Given the description of an element on the screen output the (x, y) to click on. 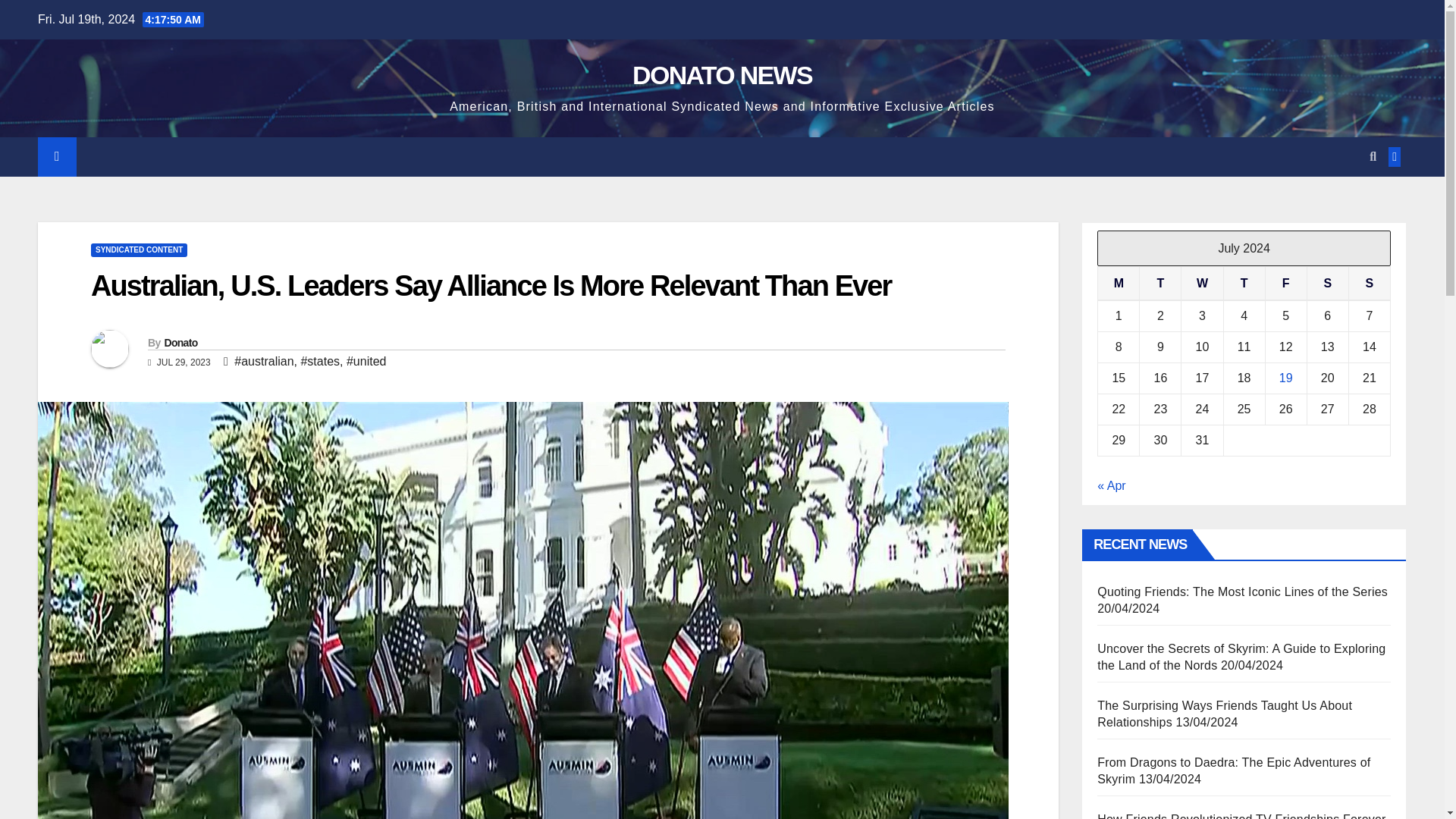
DONATO NEWS (721, 74)
SYNDICATED CONTENT (138, 250)
Donato (179, 342)
Thursday (1244, 283)
Monday (1118, 283)
Wednesday (1201, 283)
Saturday (1327, 283)
Sunday (1369, 283)
Tuesday (1160, 283)
Friday (1285, 283)
